Given the description of an element on the screen output the (x, y) to click on. 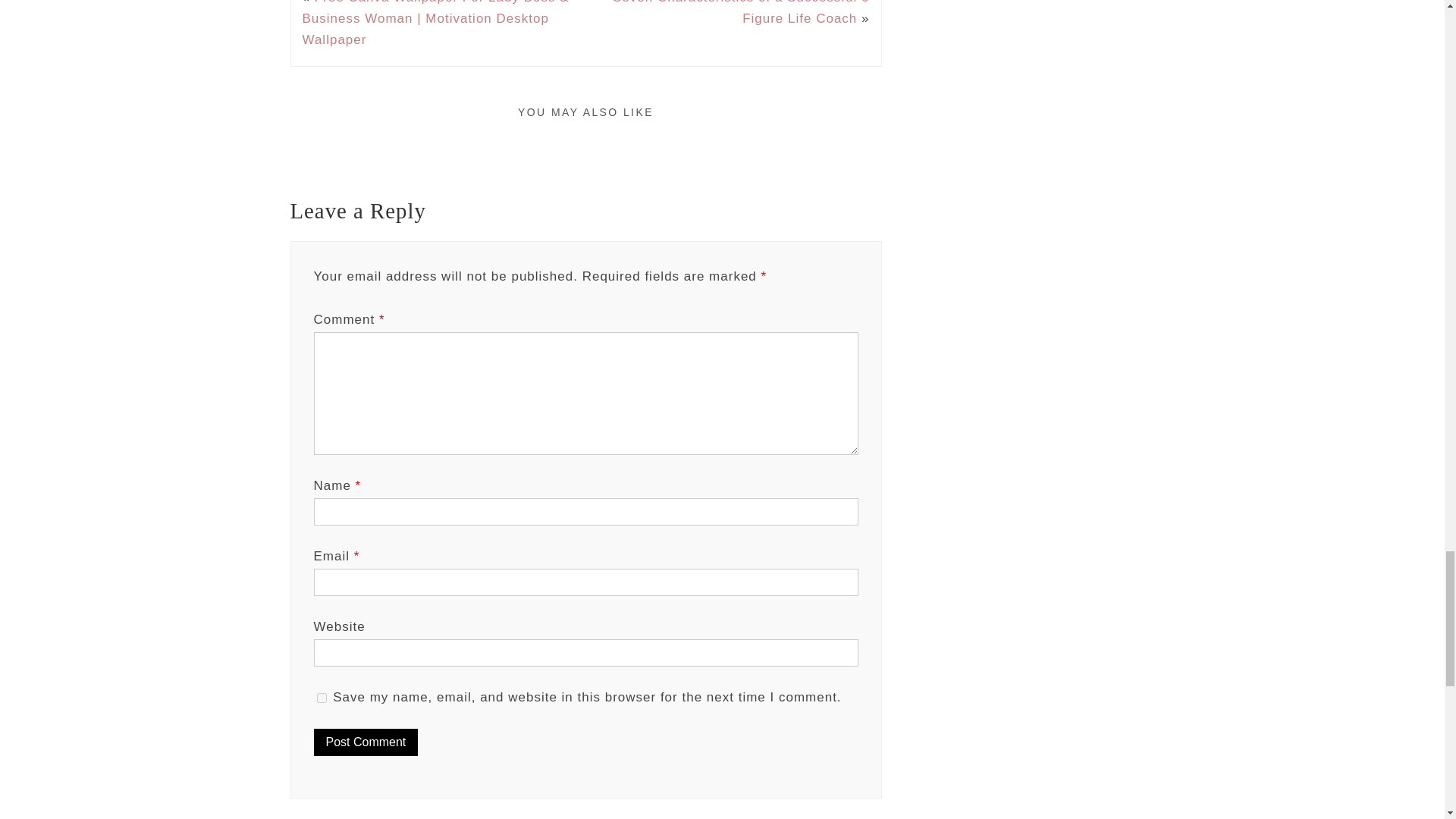
Post Comment (366, 741)
yes (321, 697)
